Given the description of an element on the screen output the (x, y) to click on. 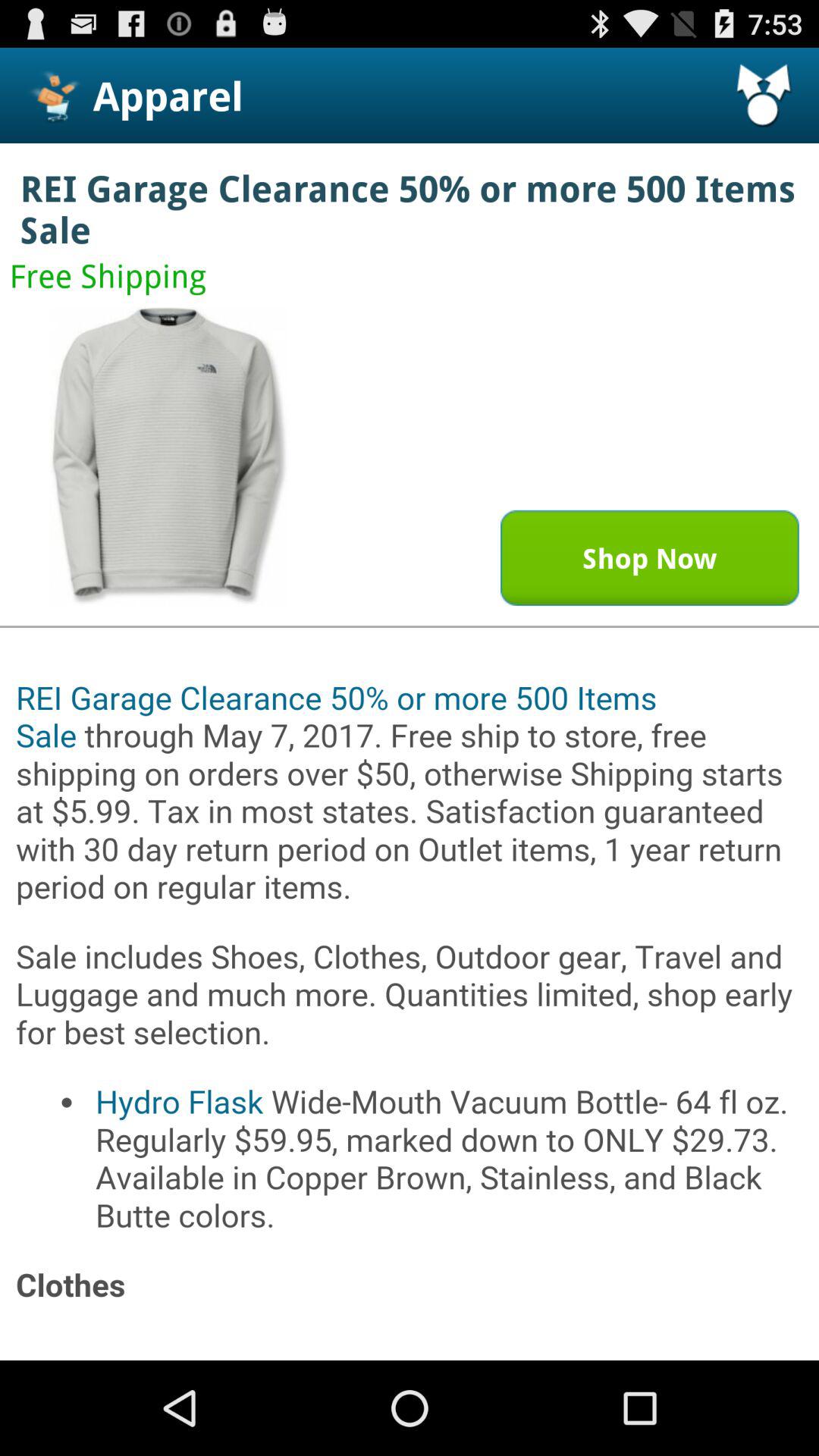
open photo (168, 456)
